Given the description of an element on the screen output the (x, y) to click on. 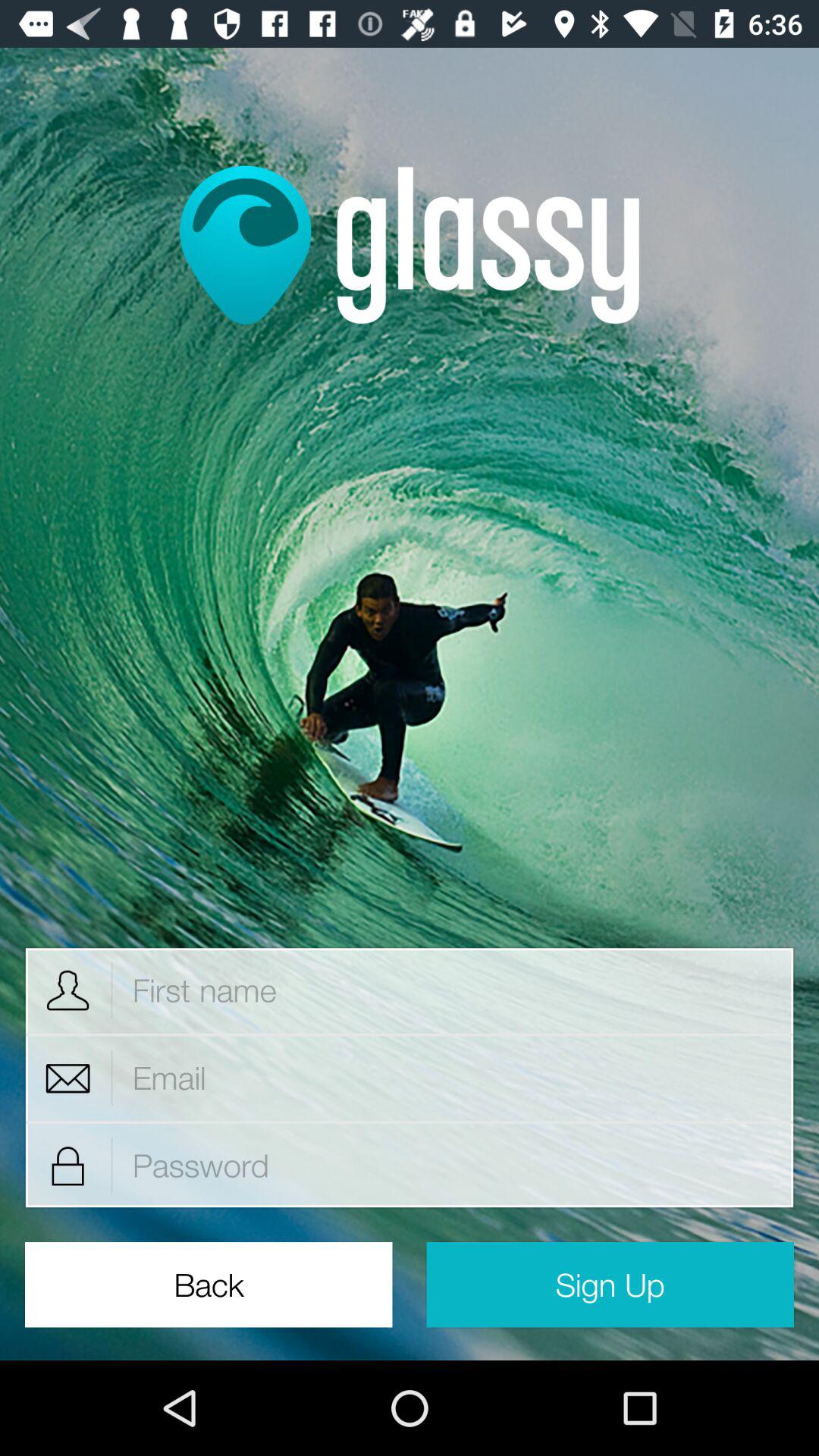
select icon next to back (609, 1284)
